Given the description of an element on the screen output the (x, y) to click on. 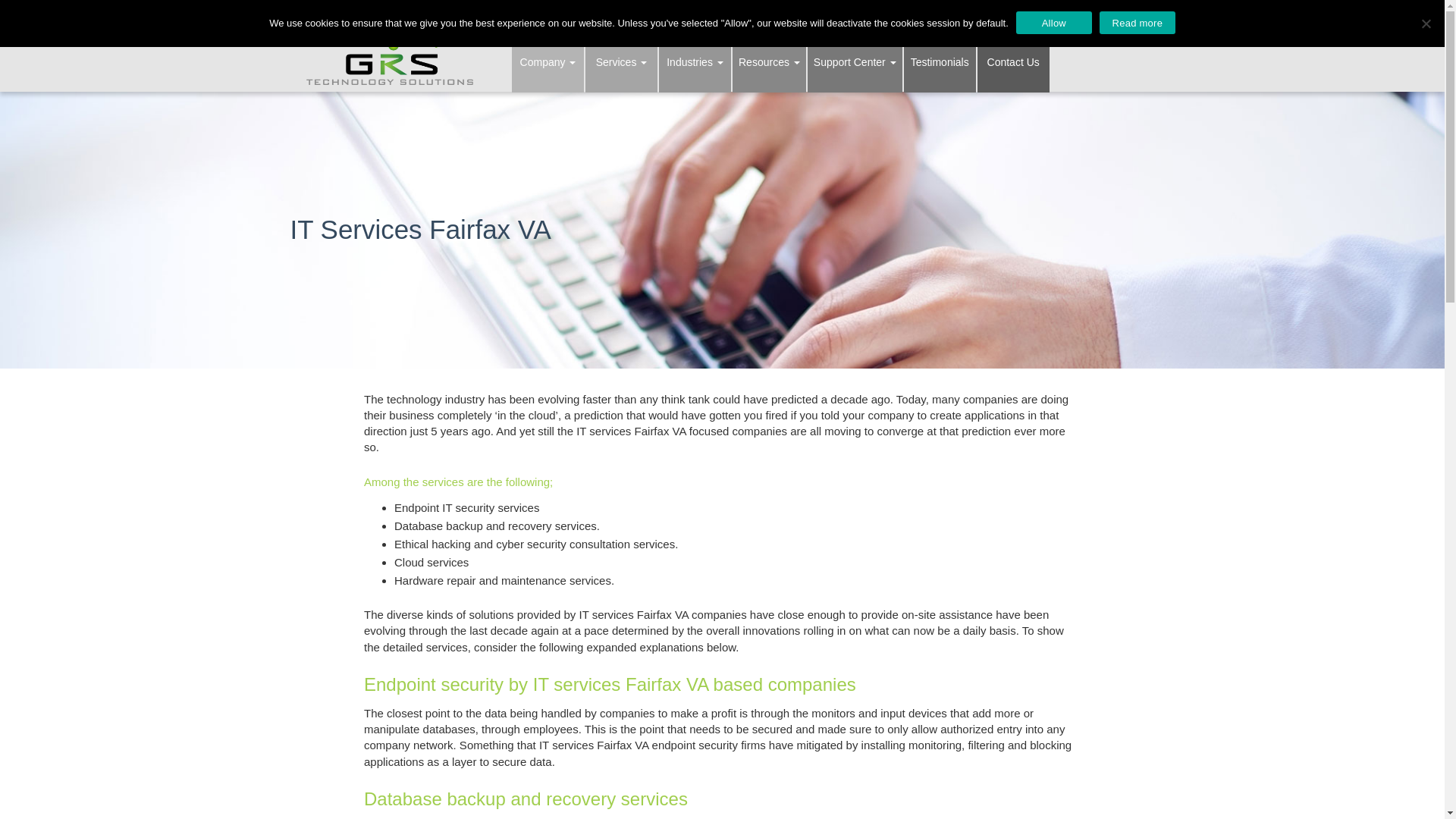
SUPPORT CENTER (932, 15)
Clients Testimonials (939, 61)
Services (621, 61)
Industries (694, 61)
Resources (769, 61)
Company (547, 61)
Support Center (855, 61)
Contact GRS Technology Solutions (1012, 61)
